Given the description of an element on the screen output the (x, y) to click on. 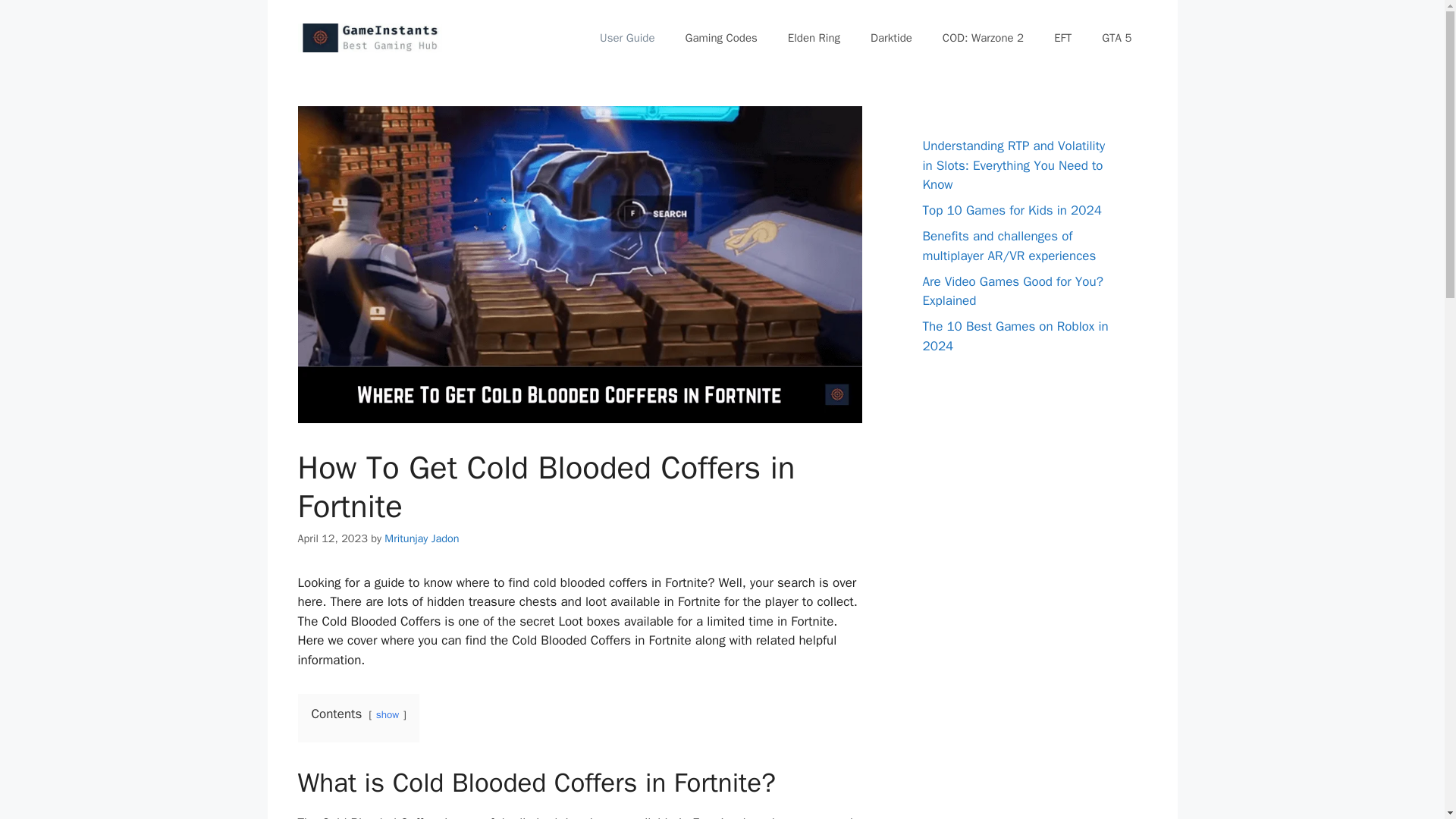
Elden Ring (814, 37)
View all posts by Mritunjay Jadon (421, 538)
Top 10 Games for Kids in 2024 (1010, 210)
show (386, 714)
Mritunjay Jadon (421, 538)
EFT (1062, 37)
User Guide (627, 37)
COD: Warzone 2 (983, 37)
